Given the description of an element on the screen output the (x, y) to click on. 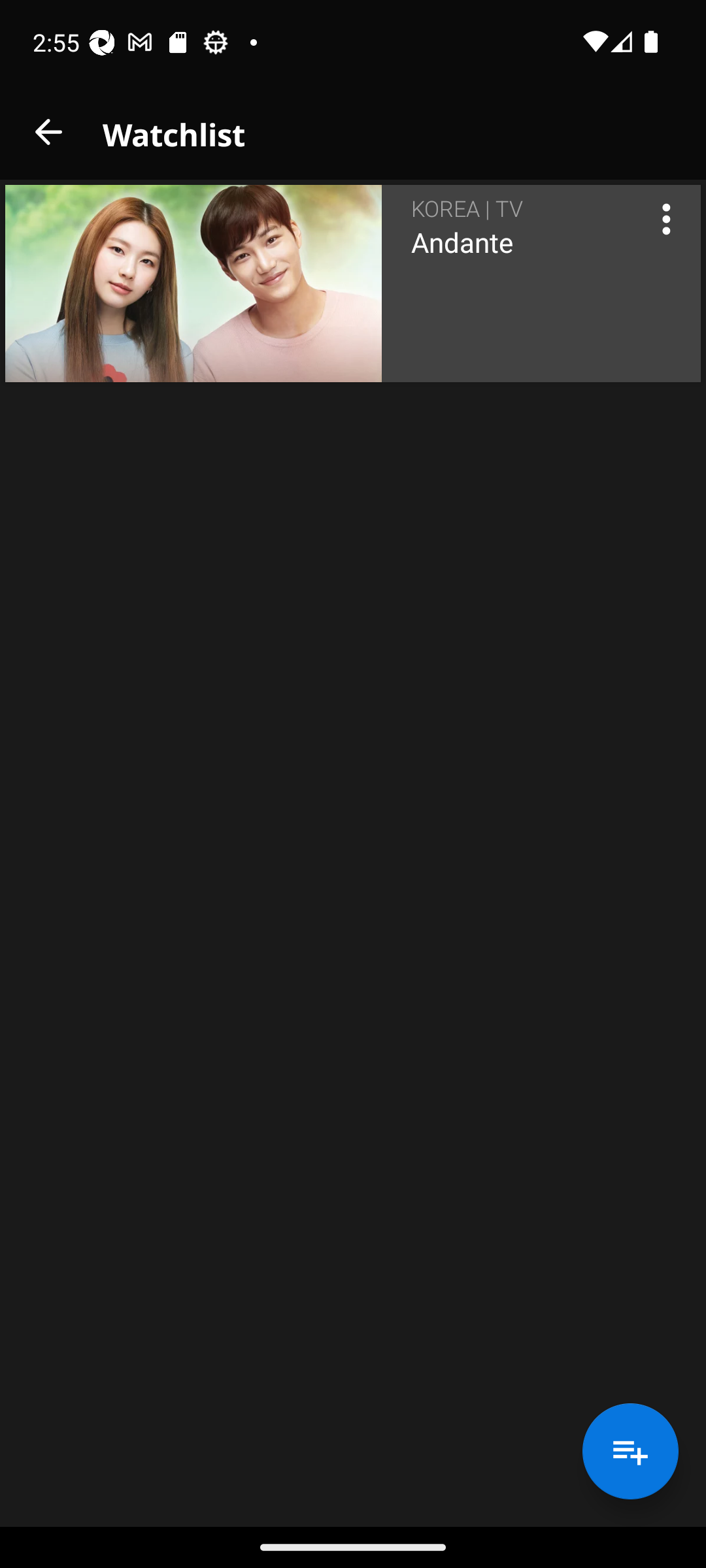
close_button (48, 131)
resource_cell KOREA | TV Andante (353, 283)
